Given the description of an element on the screen output the (x, y) to click on. 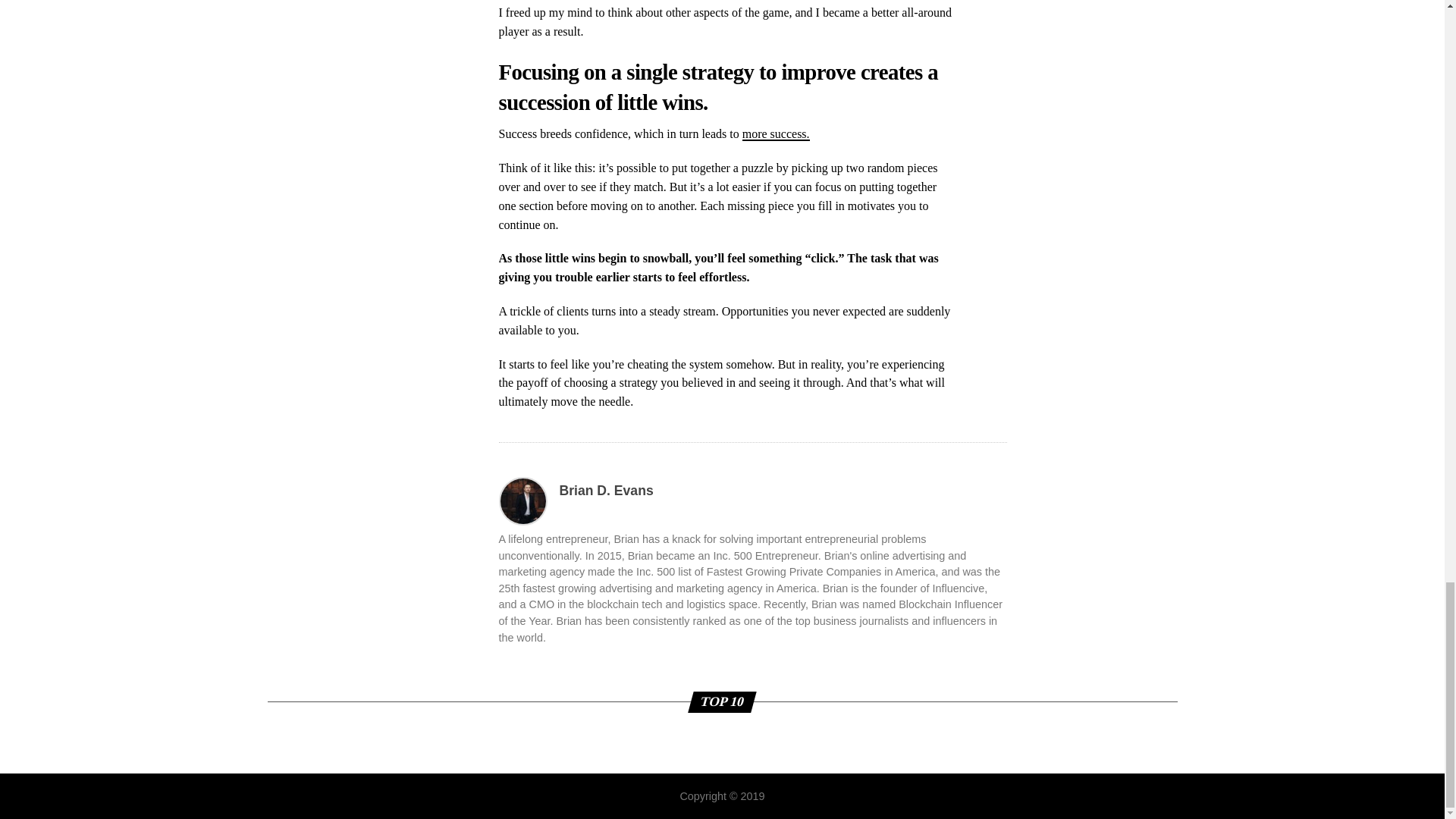
more success. (775, 133)
Posts by Brian D. Evans (606, 490)
